Given the description of an element on the screen output the (x, y) to click on. 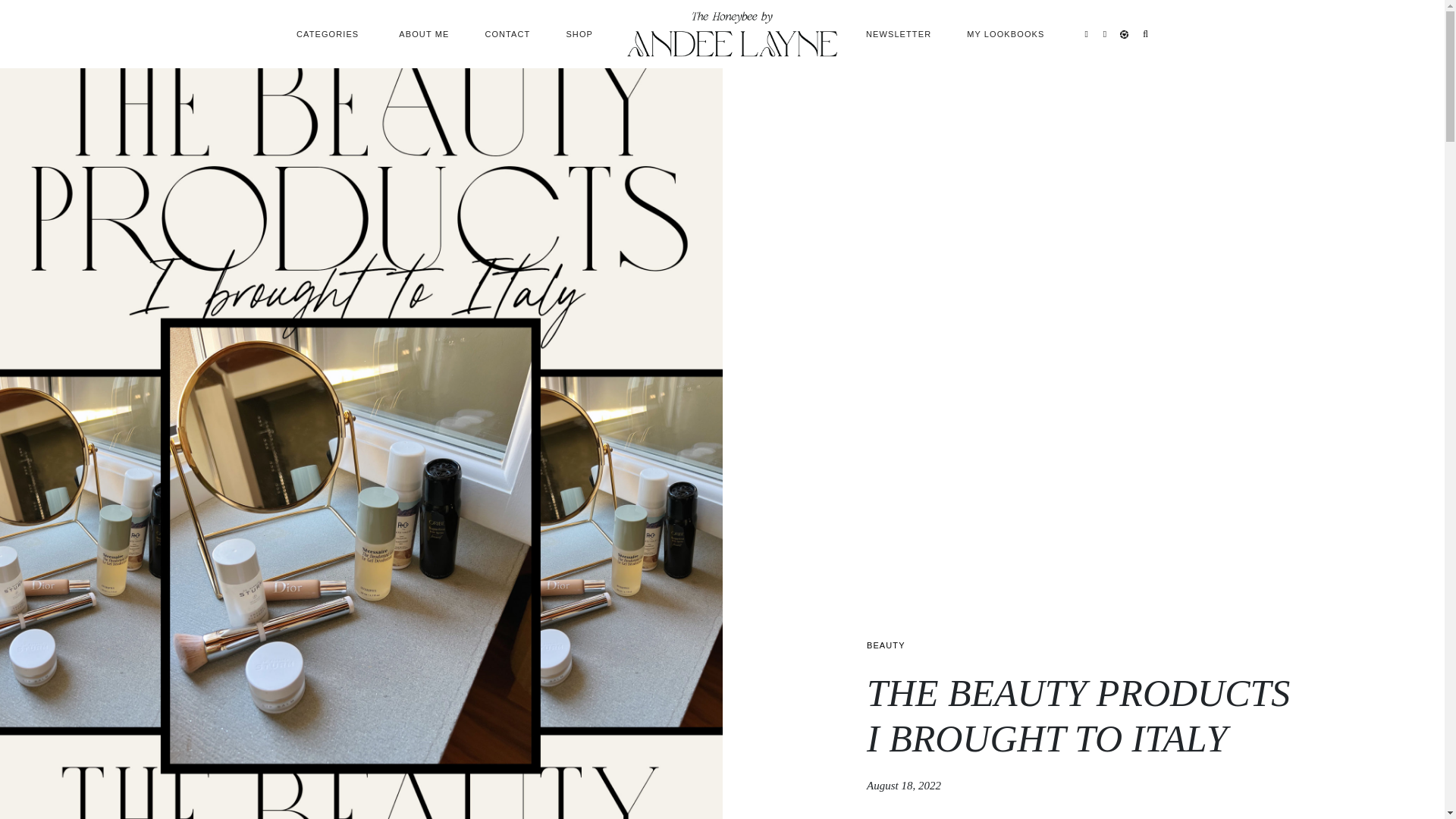
HOME (732, 26)
BEAUTY (885, 645)
CATEGORIES (329, 33)
MY LOOKBOOKS (1008, 33)
NEWSLETTER (899, 33)
CONTACT (507, 33)
SHOP (581, 33)
ABOUT ME (424, 33)
